Given the description of an element on the screen output the (x, y) to click on. 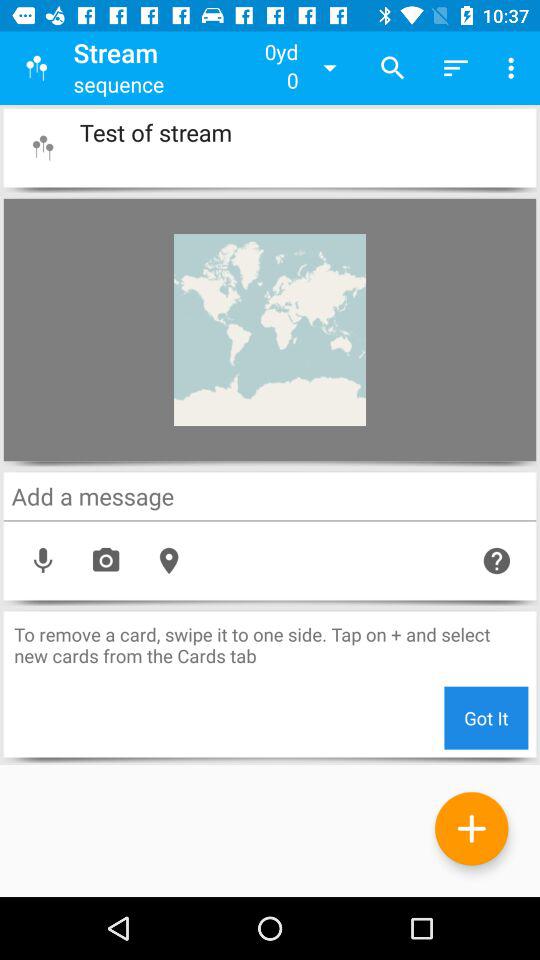
add more pages (471, 828)
